Given the description of an element on the screen output the (x, y) to click on. 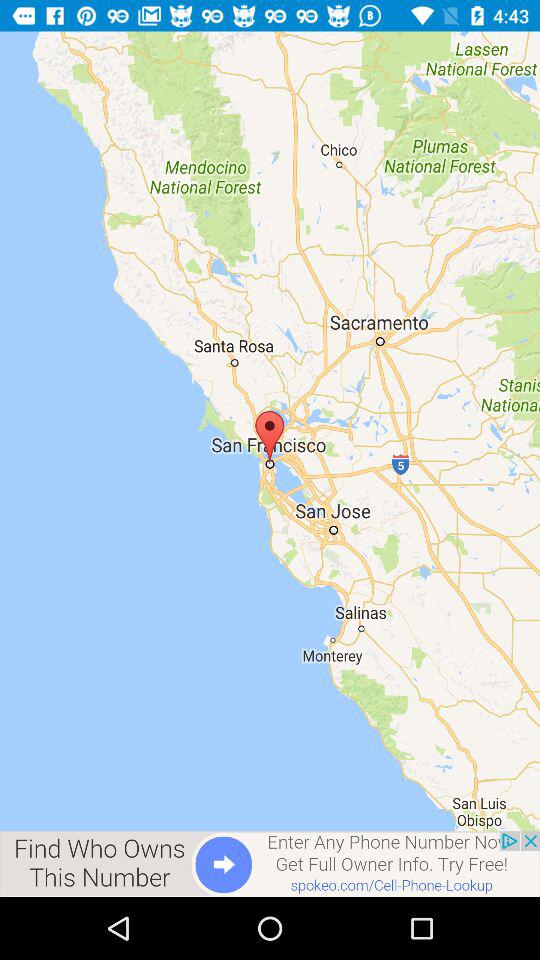
advertisement portion (270, 864)
